Given the description of an element on the screen output the (x, y) to click on. 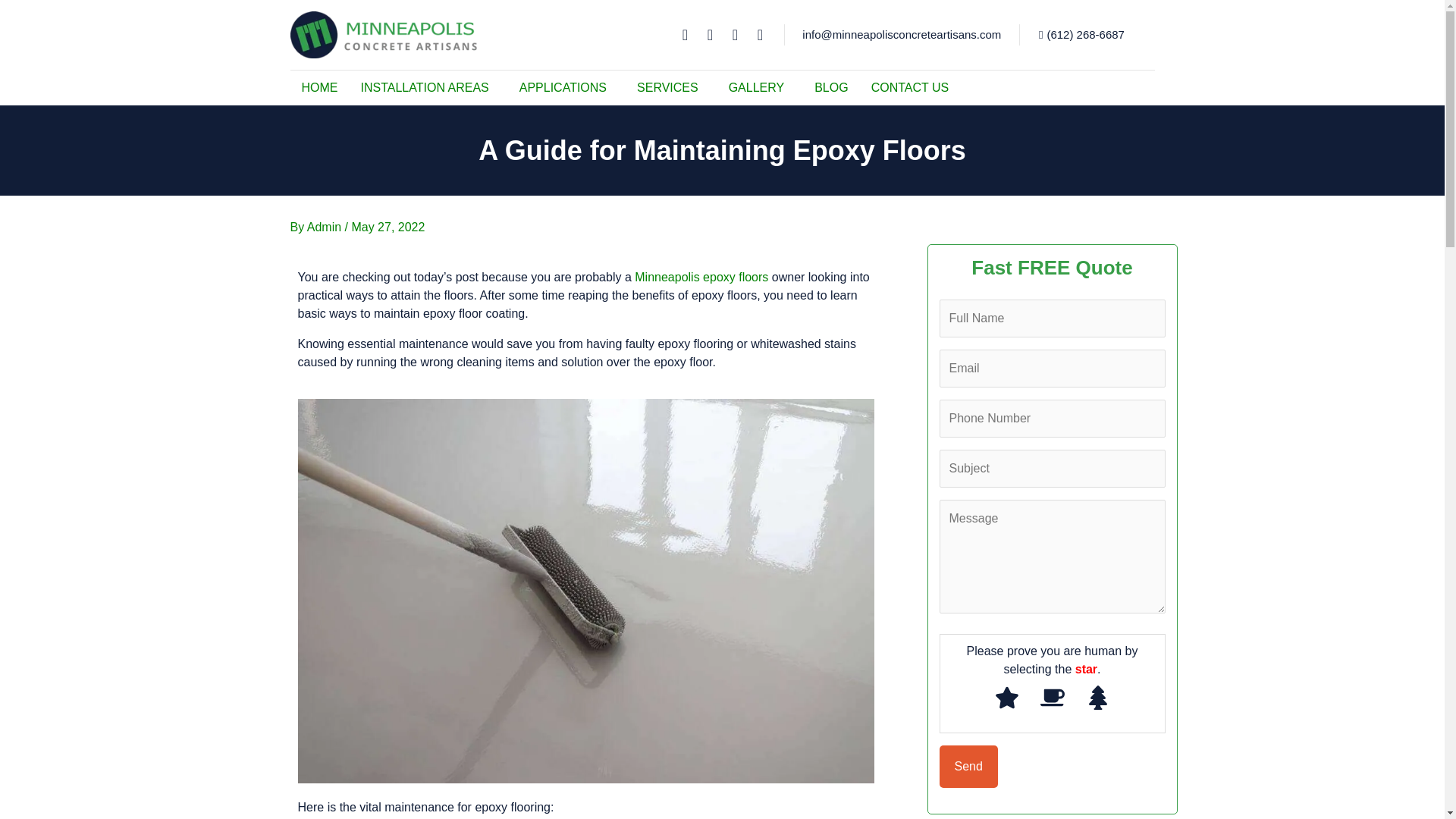
Send (968, 766)
View all posts by Admin (326, 226)
